Given the description of an element on the screen output the (x, y) to click on. 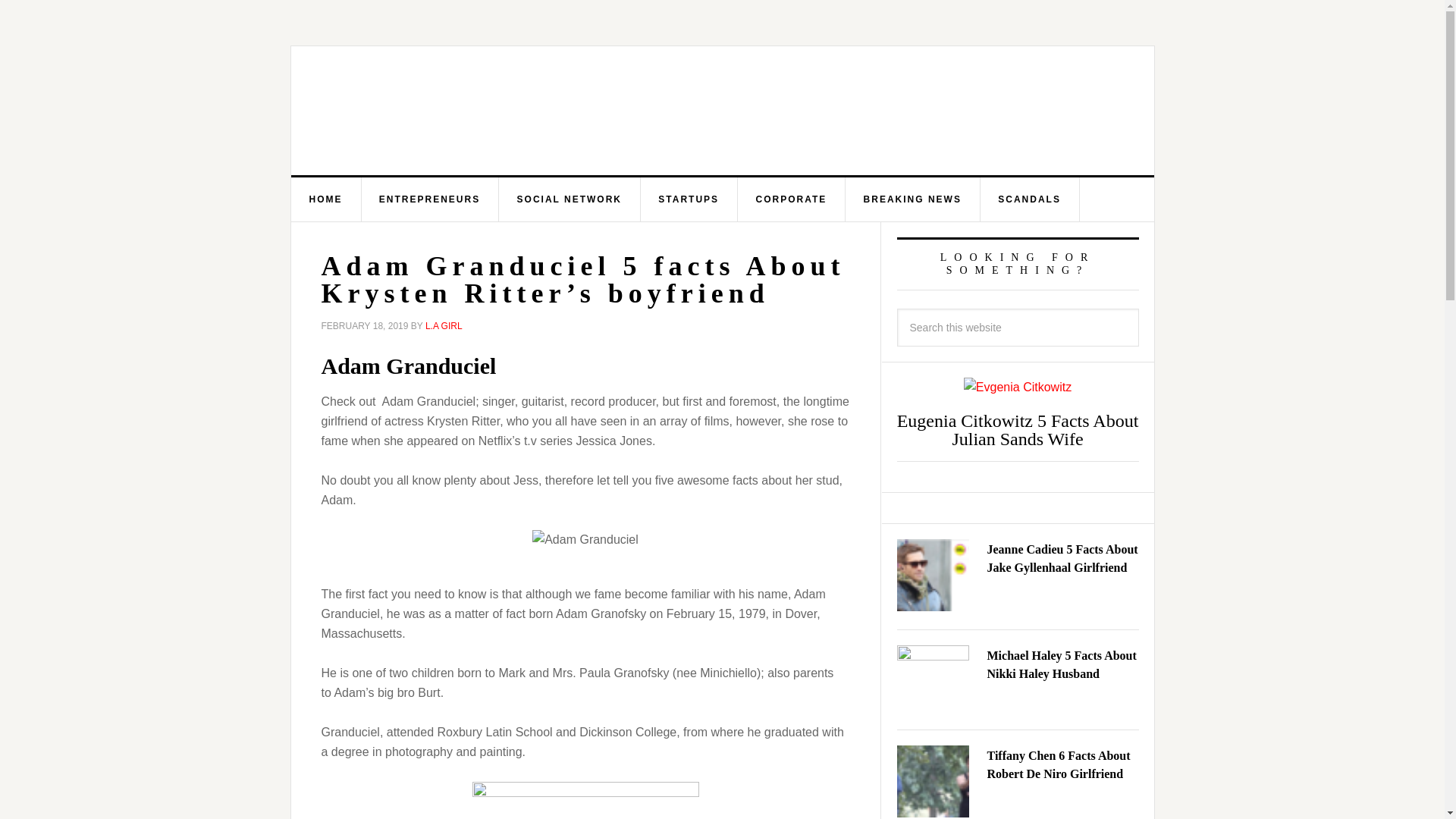
SOCIAL NETWORK (569, 199)
SCANDALS (1029, 199)
WAGCENTER.COM (442, 110)
CORPORATE (790, 199)
Jeanne Cadieu 5 Facts About Jake Gyllenhaal Girlfriend (1062, 558)
Tiffany Chen 6 Facts About Robert De Niro Girlfriend (1059, 764)
ENTREPRENEURS (430, 199)
HOME (326, 199)
Michael Haley 5 Facts About Nikki Haley Husband (1062, 664)
Eugenia Citkowitz 5 Facts About Julian Sands Wife (1017, 429)
STARTUPS (689, 199)
BREAKING NEWS (912, 199)
